Given the description of an element on the screen output the (x, y) to click on. 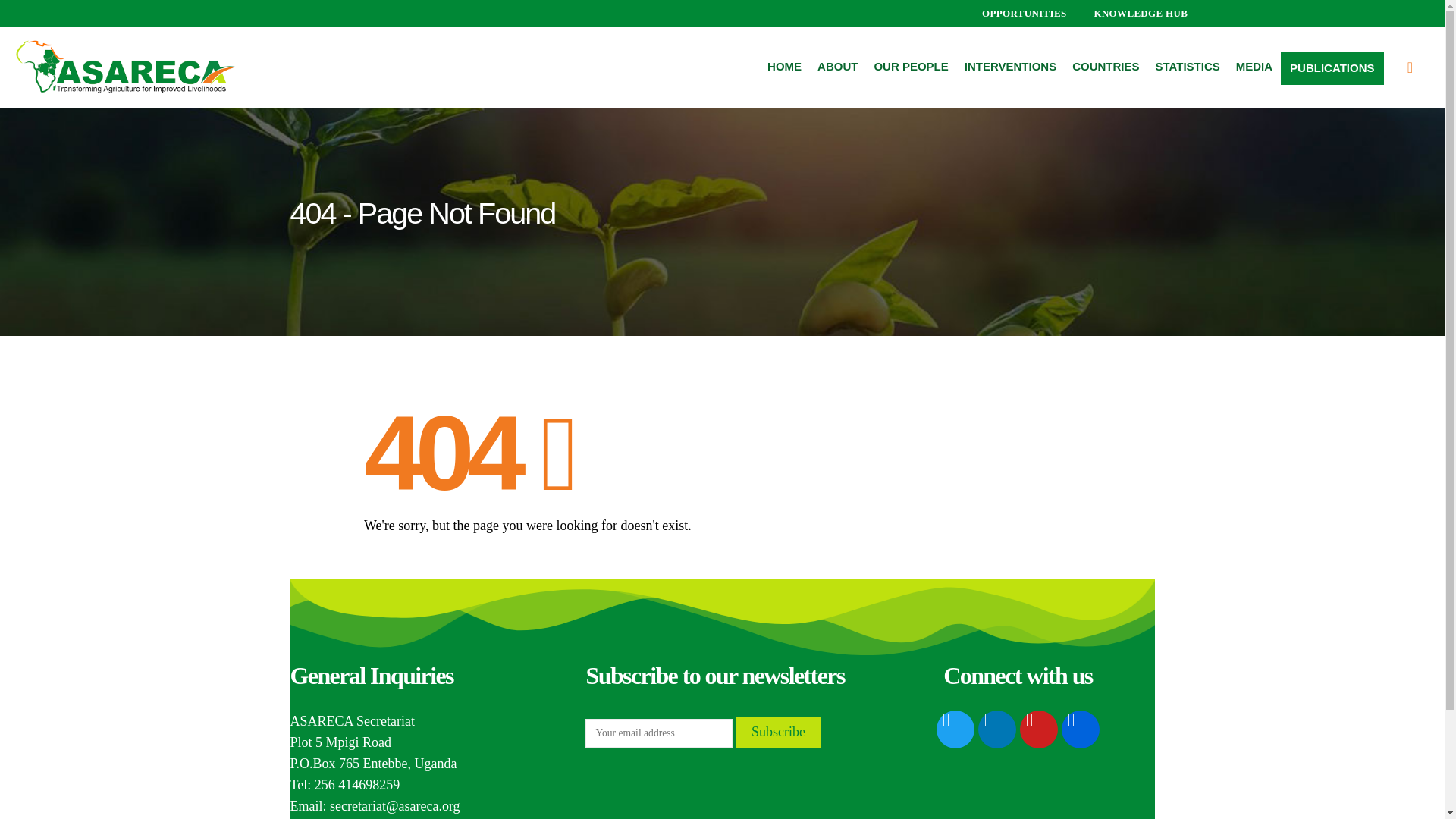
Subscribe (778, 732)
ABOUT (836, 66)
INTERVENTIONS (1010, 66)
OPPORTUNITIES (1014, 13)
HOME (784, 66)
KNOWLEDGE HUB (1130, 13)
OUR PEOPLE (910, 66)
COUNTRIES (1105, 66)
ASARECA - Transforming Agriculture For Improved Livehoods (124, 67)
